Given the description of an element on the screen output the (x, y) to click on. 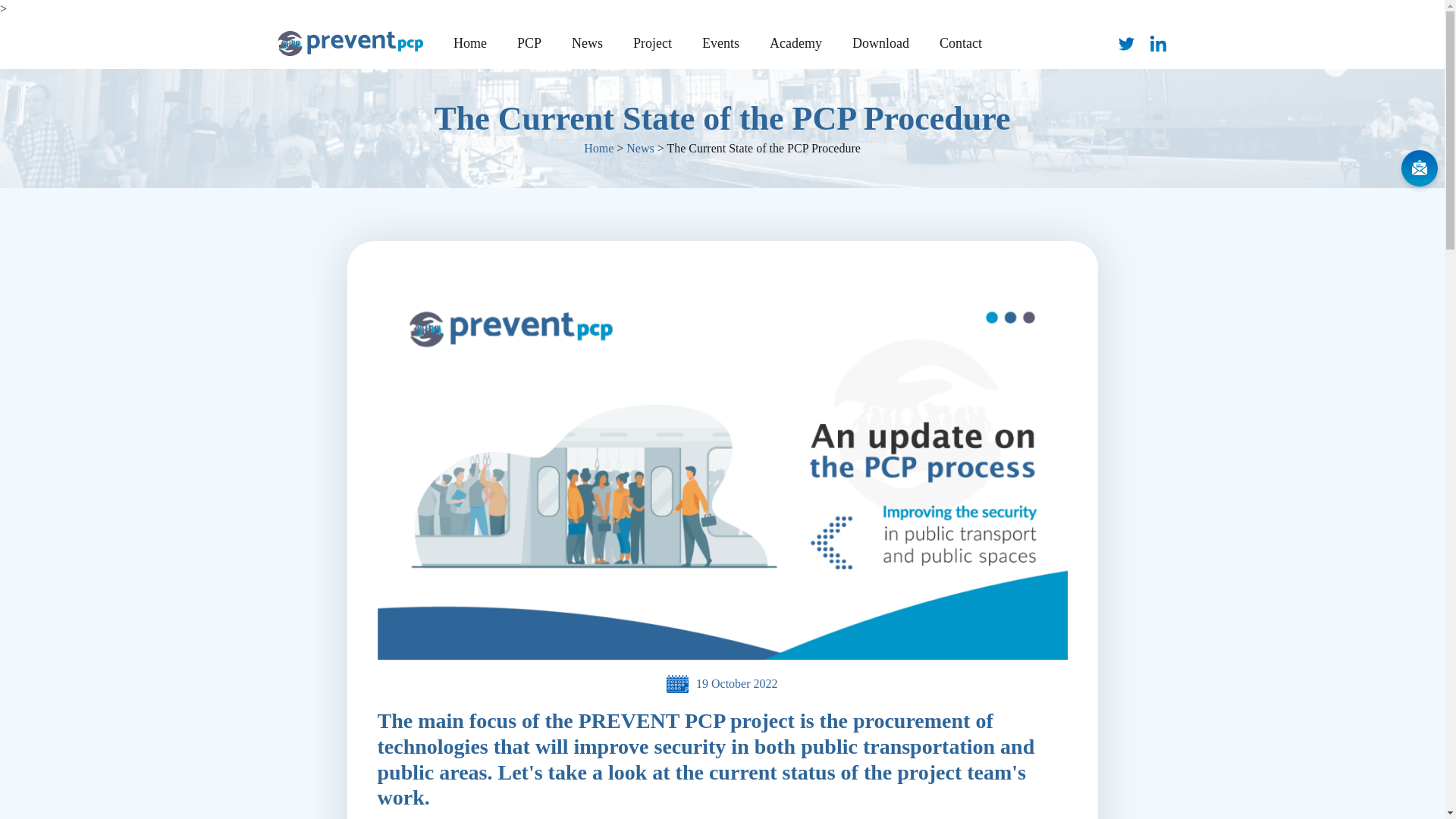
PCP (529, 43)
News (639, 147)
Download (880, 43)
Home (597, 147)
Home (470, 43)
Events (720, 43)
Project (652, 43)
Academy (795, 43)
News (586, 43)
Contact (960, 43)
